Given the description of an element on the screen output the (x, y) to click on. 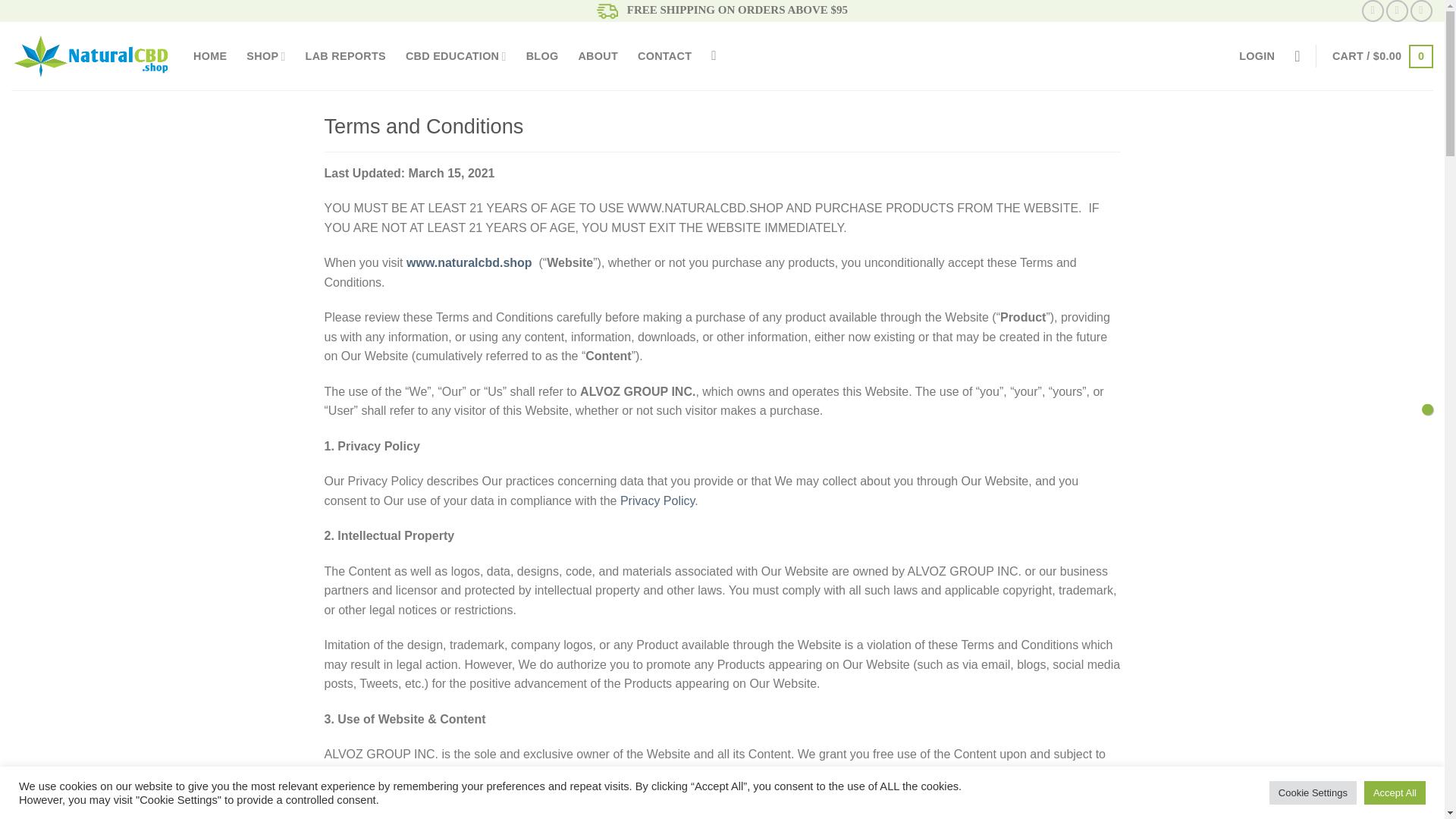
Follow on Pinterest (1421, 11)
Follow on Instagram (1396, 11)
Login (1257, 55)
Follow on Facebook (1372, 11)
Cart (1382, 55)
SHOP (265, 56)
return-policy (1427, 408)
HOME (210, 55)
